Given the description of an element on the screen output the (x, y) to click on. 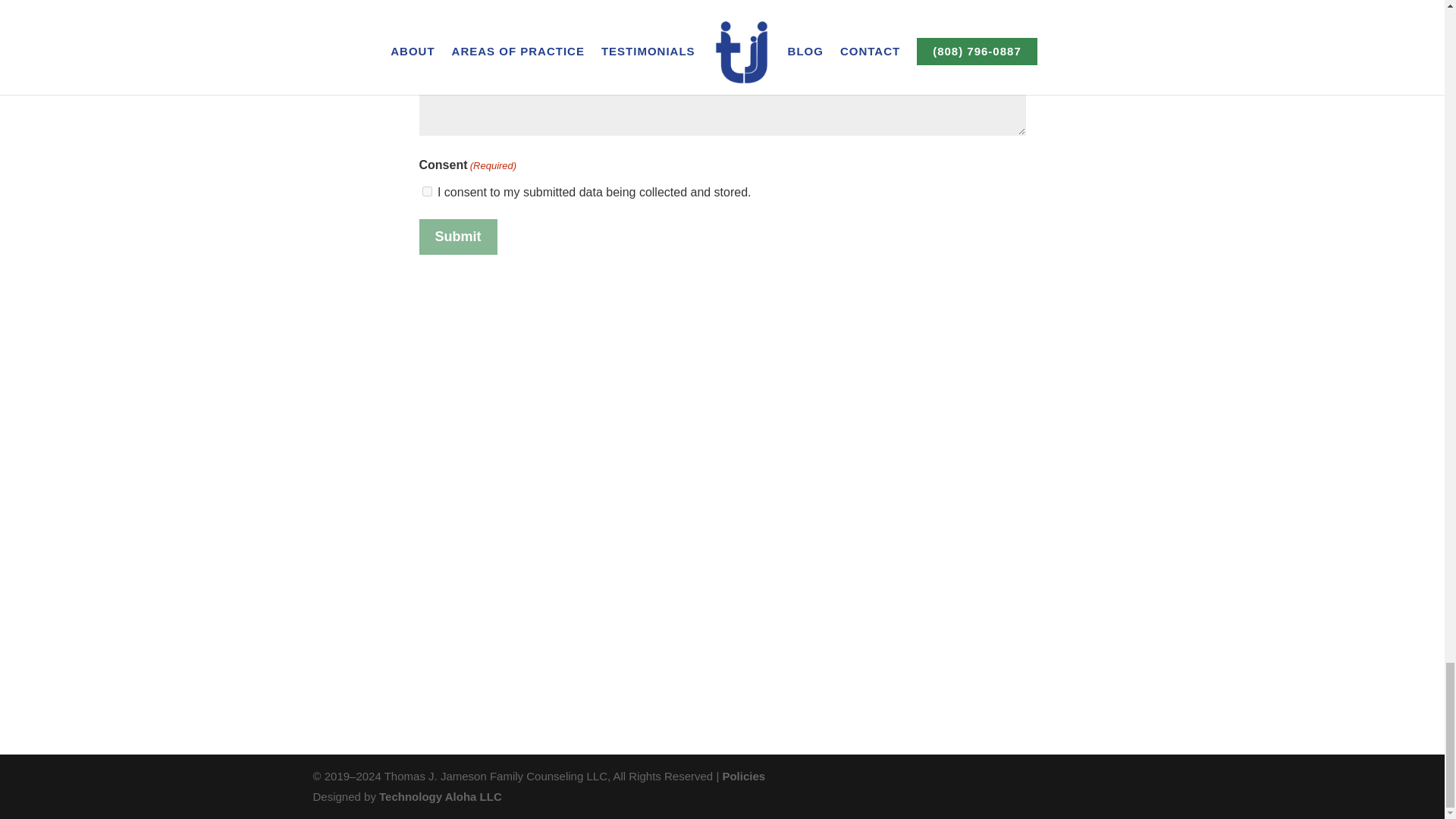
Submit (457, 236)
Web Design With Business in Mind (440, 796)
1 (426, 191)
